Given the description of an element on the screen output the (x, y) to click on. 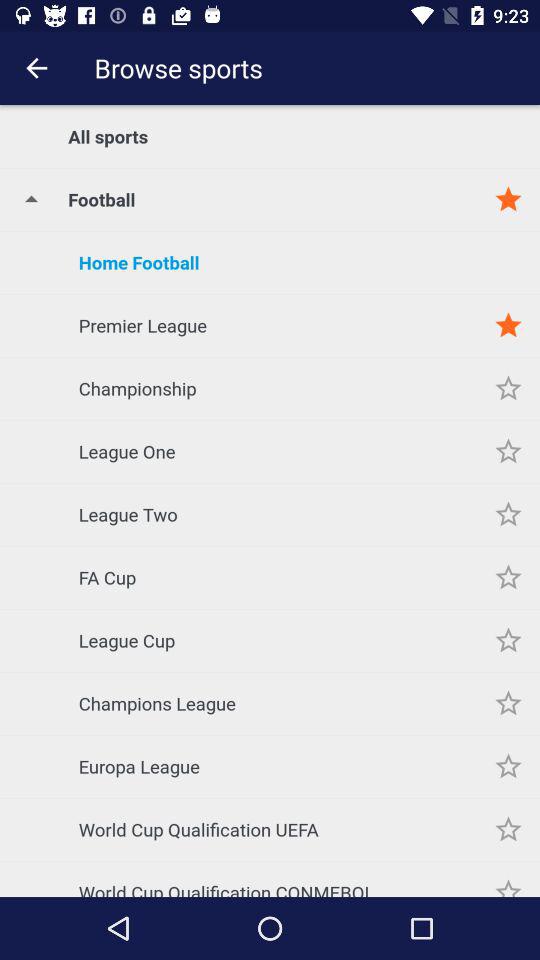
favorite league (508, 640)
